Given the description of an element on the screen output the (x, y) to click on. 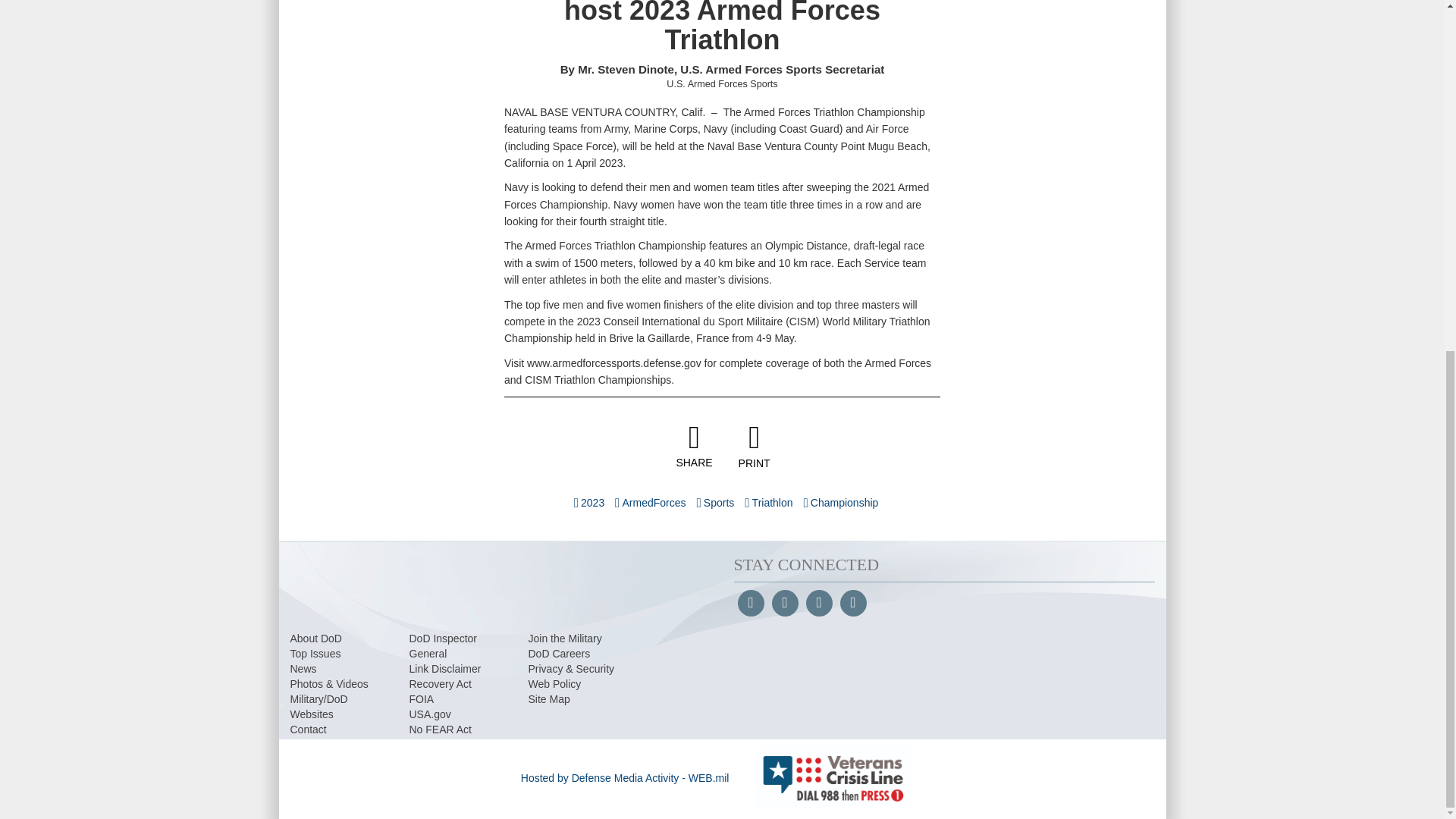
Flickr (853, 603)
YouTube (784, 603)
Follow Us on Facebook (749, 603)
Instagram (818, 603)
